Given the description of an element on the screen output the (x, y) to click on. 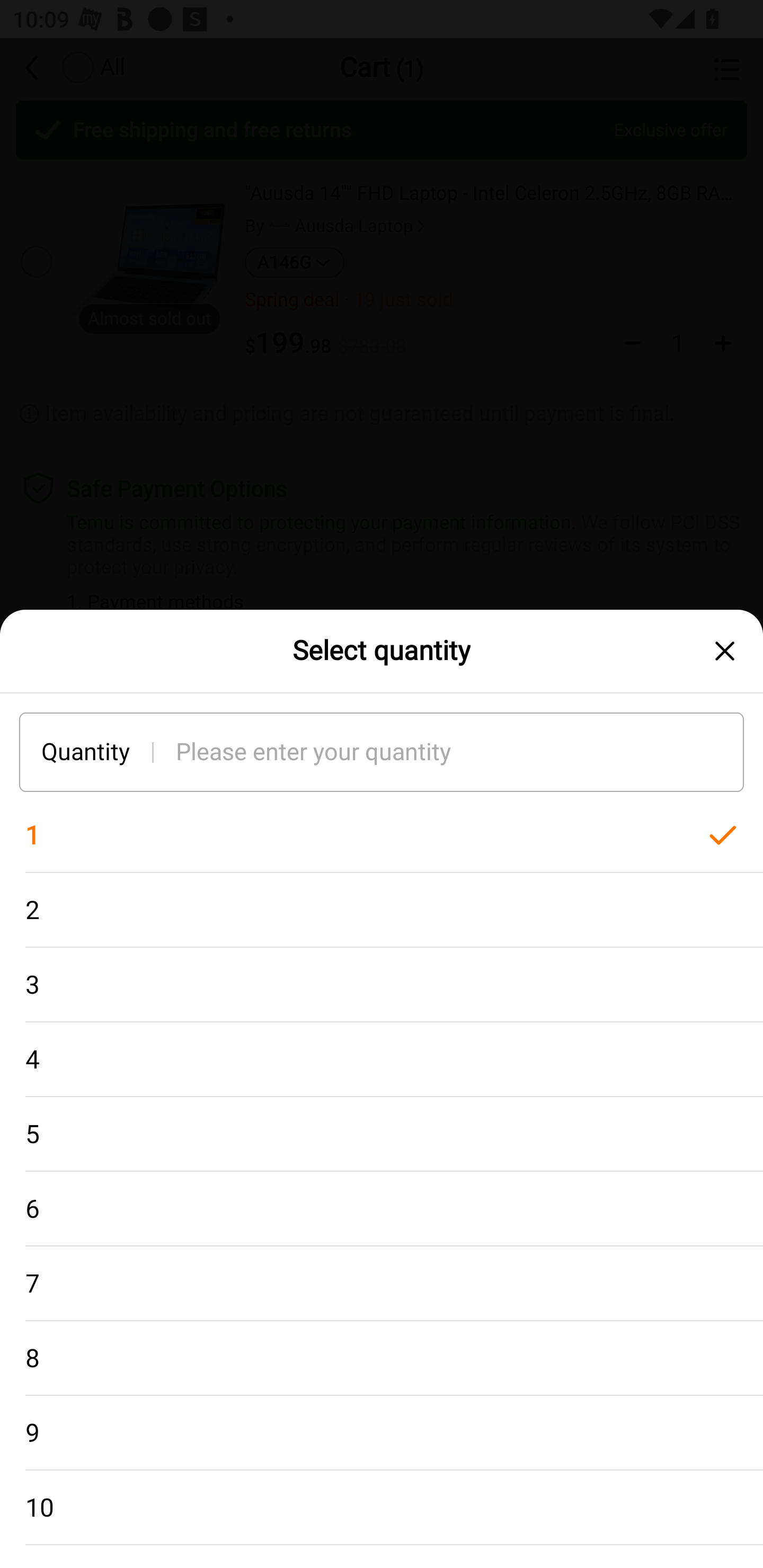
close (724, 650)
Please enter your quantity (459, 751)
1 (381, 835)
2 (381, 910)
3 (381, 984)
4 (381, 1059)
5 (381, 1134)
6 (381, 1208)
7 (381, 1283)
8 (381, 1358)
9 (381, 1432)
10 (381, 1507)
